Given the description of an element on the screen output the (x, y) to click on. 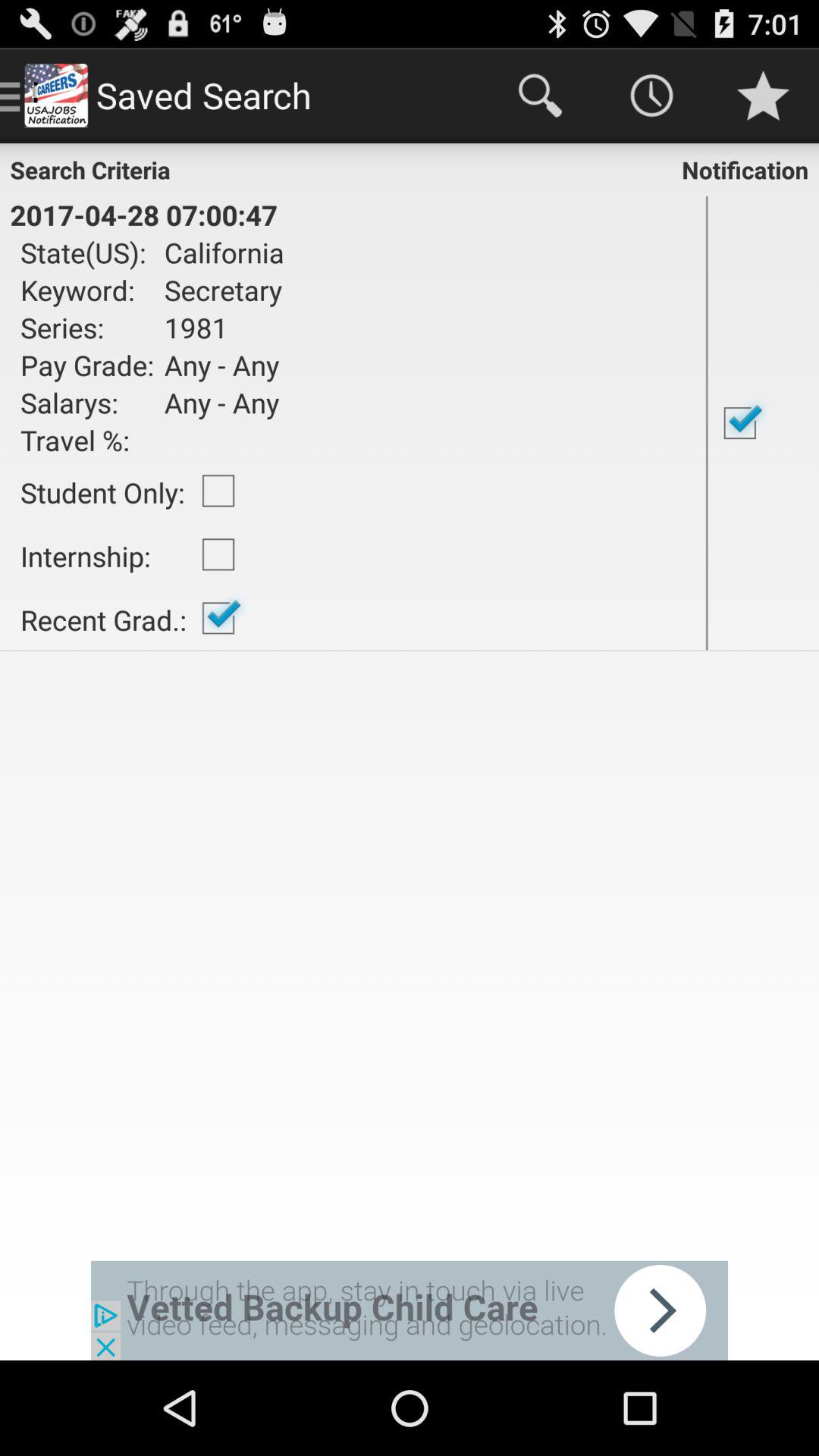
click item to the right of state(us): (219, 289)
